Given the description of an element on the screen output the (x, y) to click on. 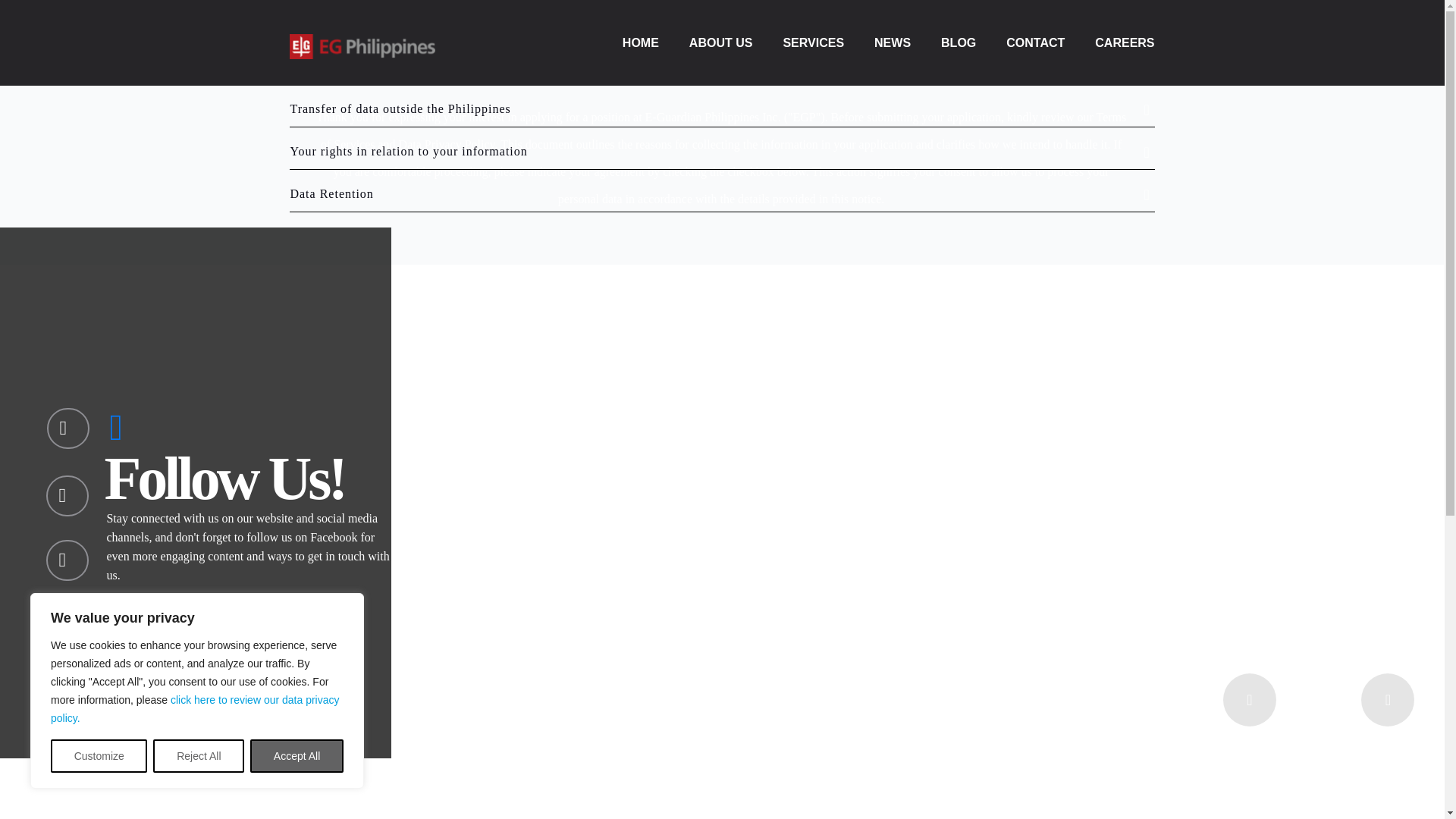
Reject All (198, 756)
Your rights in relation to your information (721, 151)
Transfer of data outside the Philippines (721, 109)
CONTACT (1035, 44)
click here to review our data privacy policy. (194, 708)
What information do we ask you to provide? (721, 24)
Accept All (296, 756)
CAREERS (1124, 44)
Customize (98, 756)
